Given the description of an element on the screen output the (x, y) to click on. 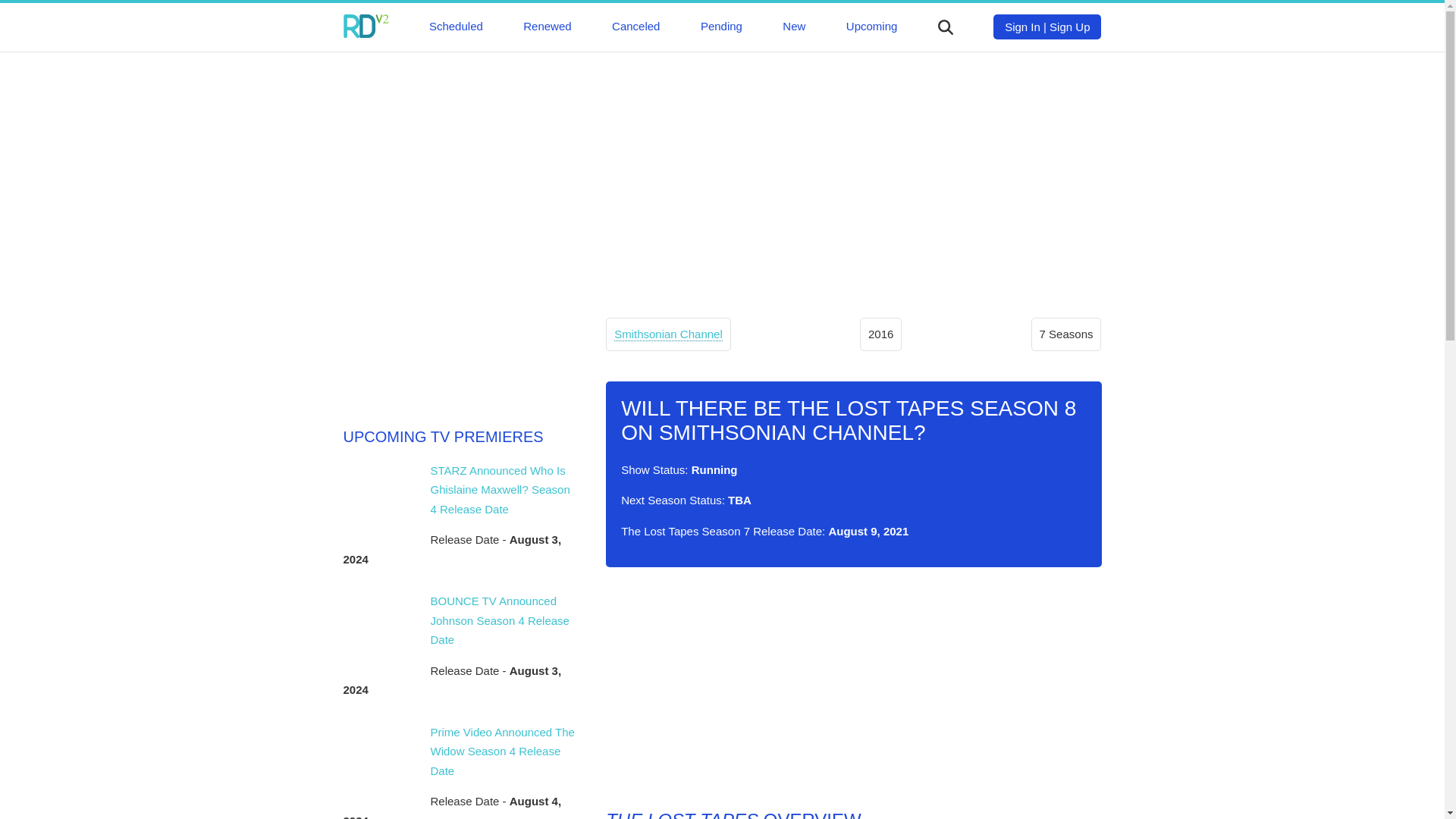
Sign In (1022, 26)
Advertisement (852, 688)
Smithsonian Channel (668, 334)
Renewed (546, 25)
Canceled (635, 25)
Sign Up (1069, 26)
Pending (721, 25)
Upcoming (871, 25)
New (794, 25)
